Given the description of an element on the screen output the (x, y) to click on. 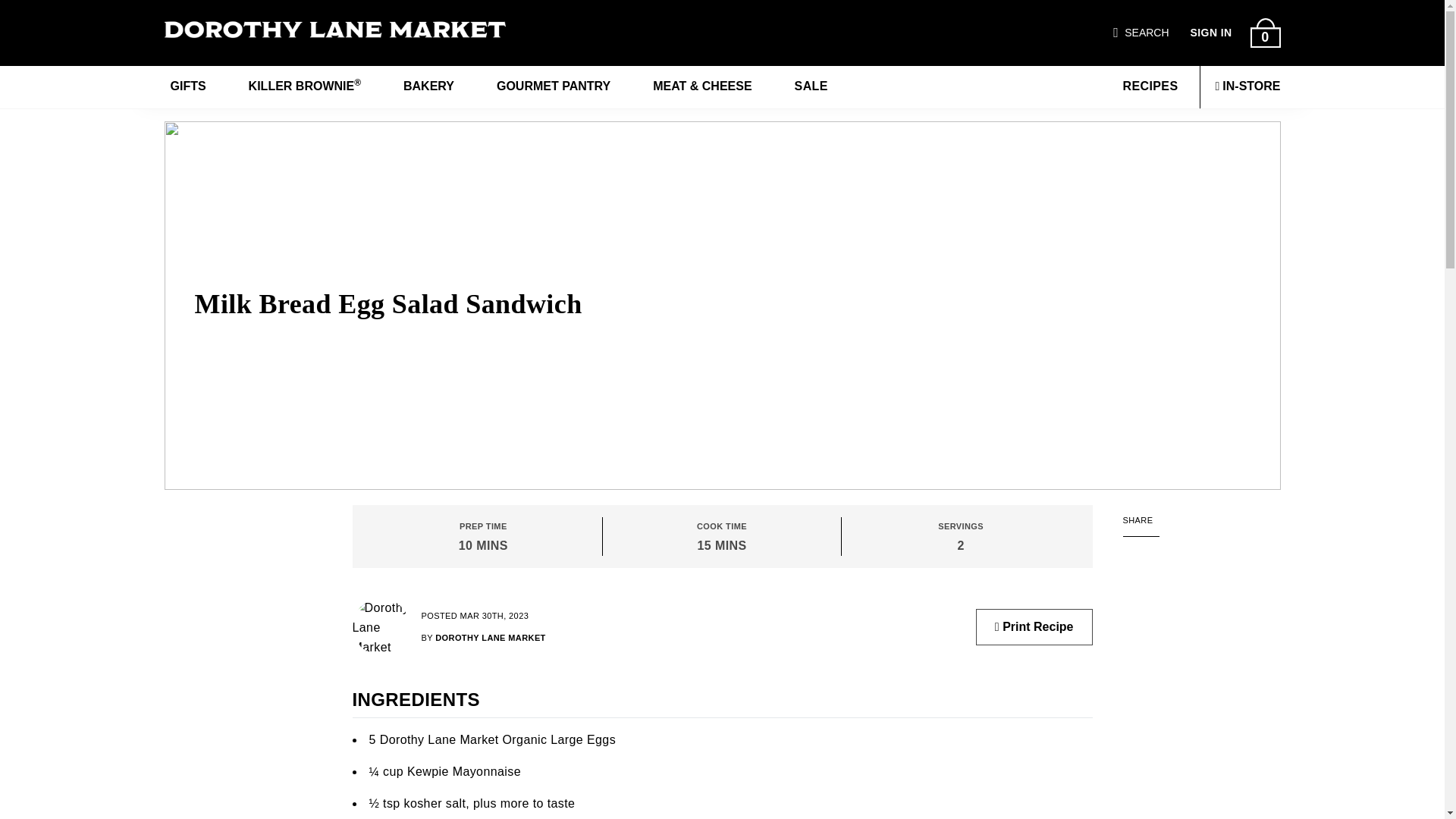
0 (1264, 32)
BAKERY (428, 87)
IN-STORE (1246, 87)
GIFTS (187, 87)
GOURMET PANTRY (552, 87)
SIGN IN (1211, 32)
SEARCH (1146, 32)
SALE (811, 87)
RECIPES (1148, 87)
